Given the description of an element on the screen output the (x, y) to click on. 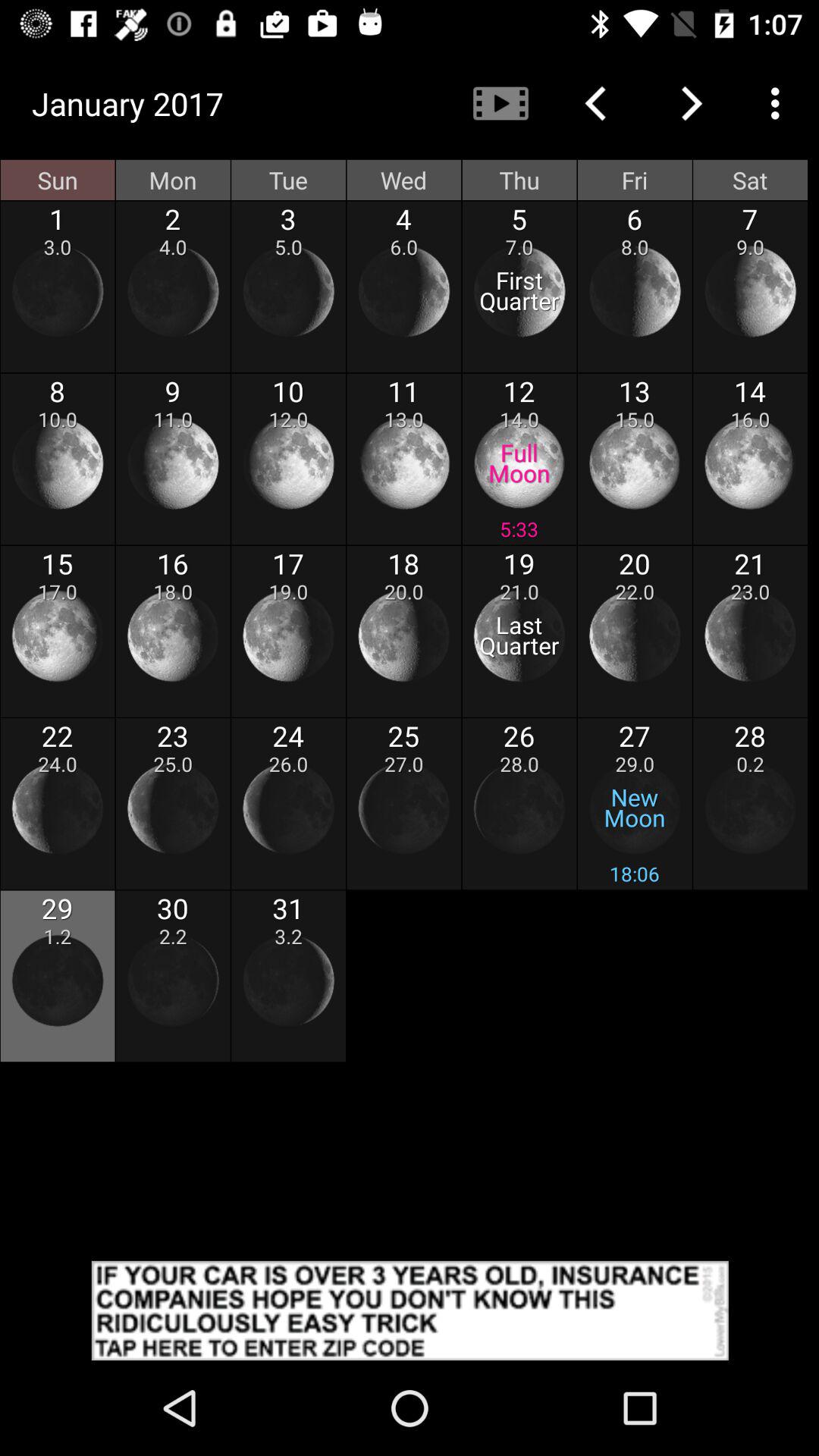
go to play button (409, 1310)
